Given the description of an element on the screen output the (x, y) to click on. 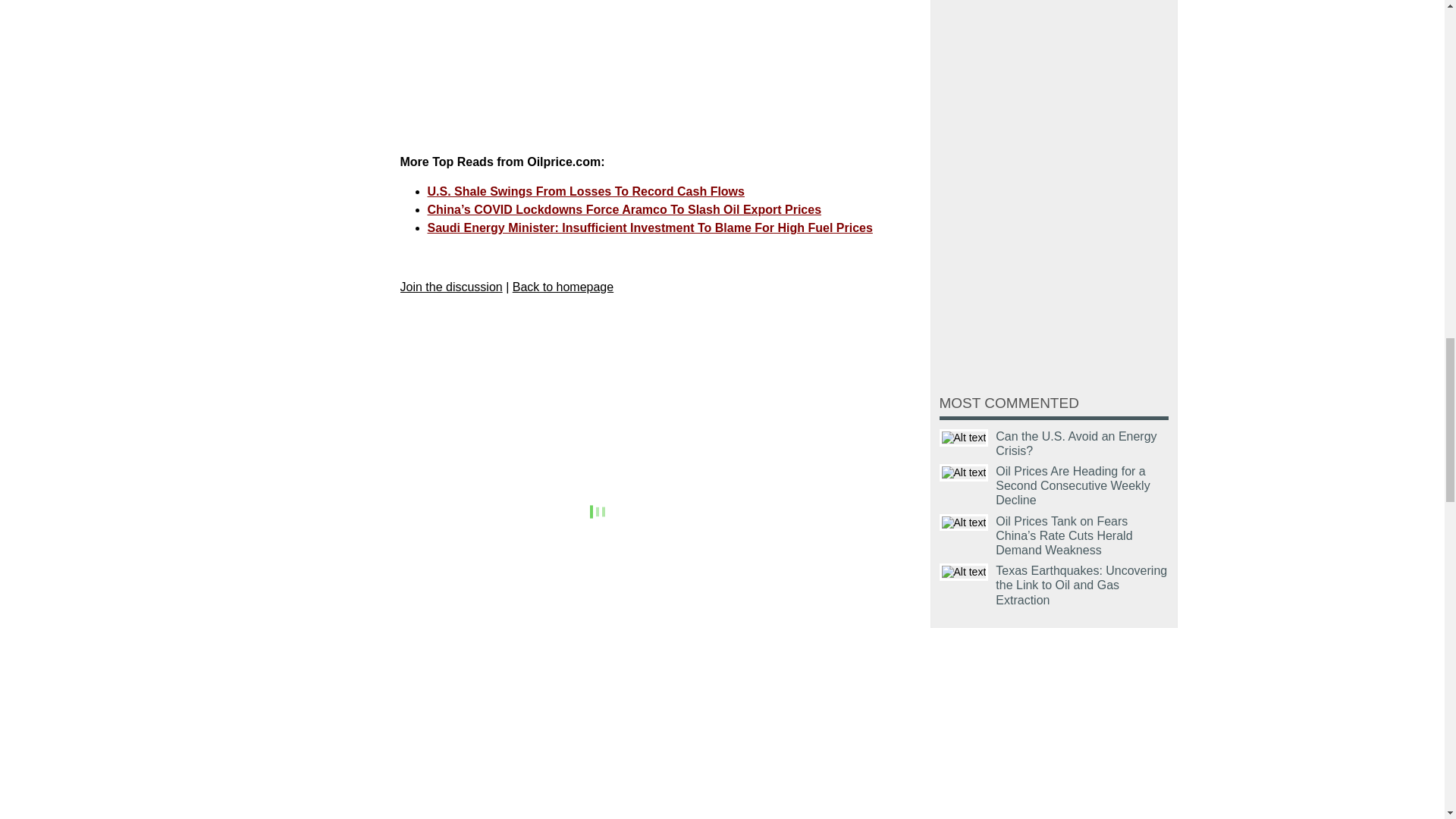
Title text (963, 437)
Title text (963, 472)
Title text (963, 522)
Title text (963, 571)
